Given the description of an element on the screen output the (x, y) to click on. 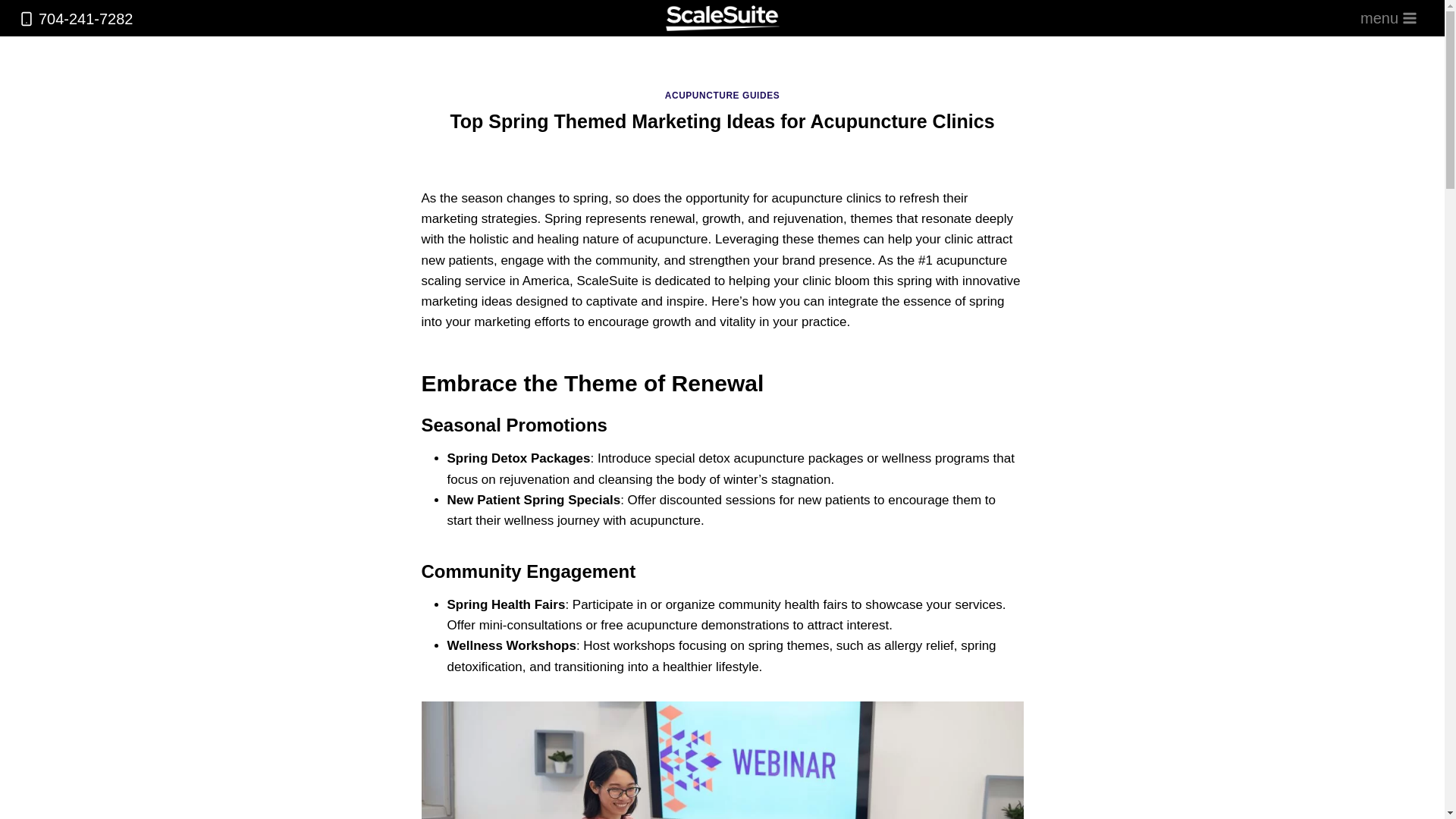
ACUPUNCTURE GUIDES (721, 95)
704-241-7282 (75, 18)
menu (1388, 18)
